Given the description of an element on the screen output the (x, y) to click on. 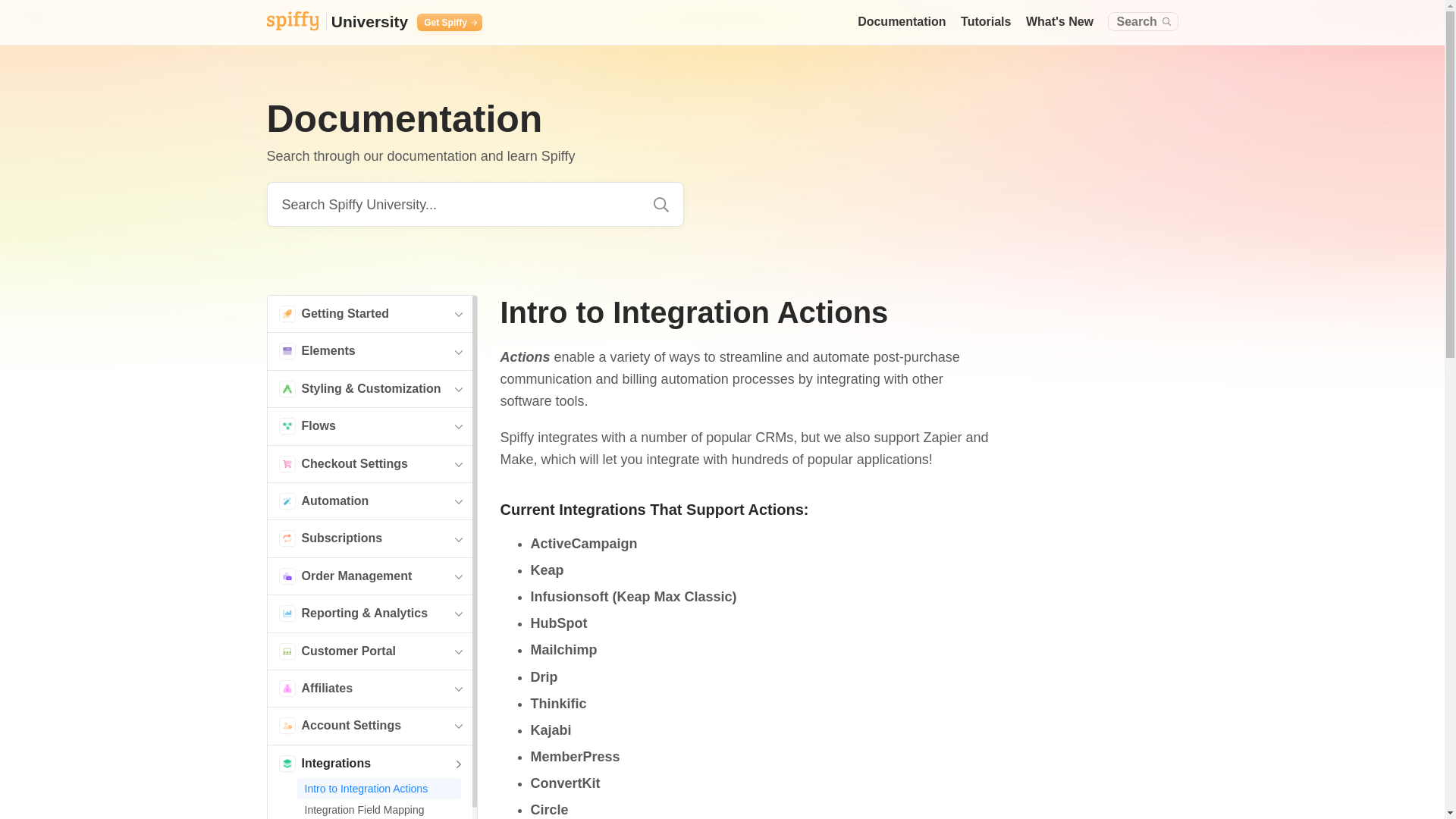
University (337, 22)
What's New (1059, 21)
Tutorials (985, 21)
Search (1142, 21)
Documentation (900, 21)
Get Spiffy (448, 22)
